Given the description of an element on the screen output the (x, y) to click on. 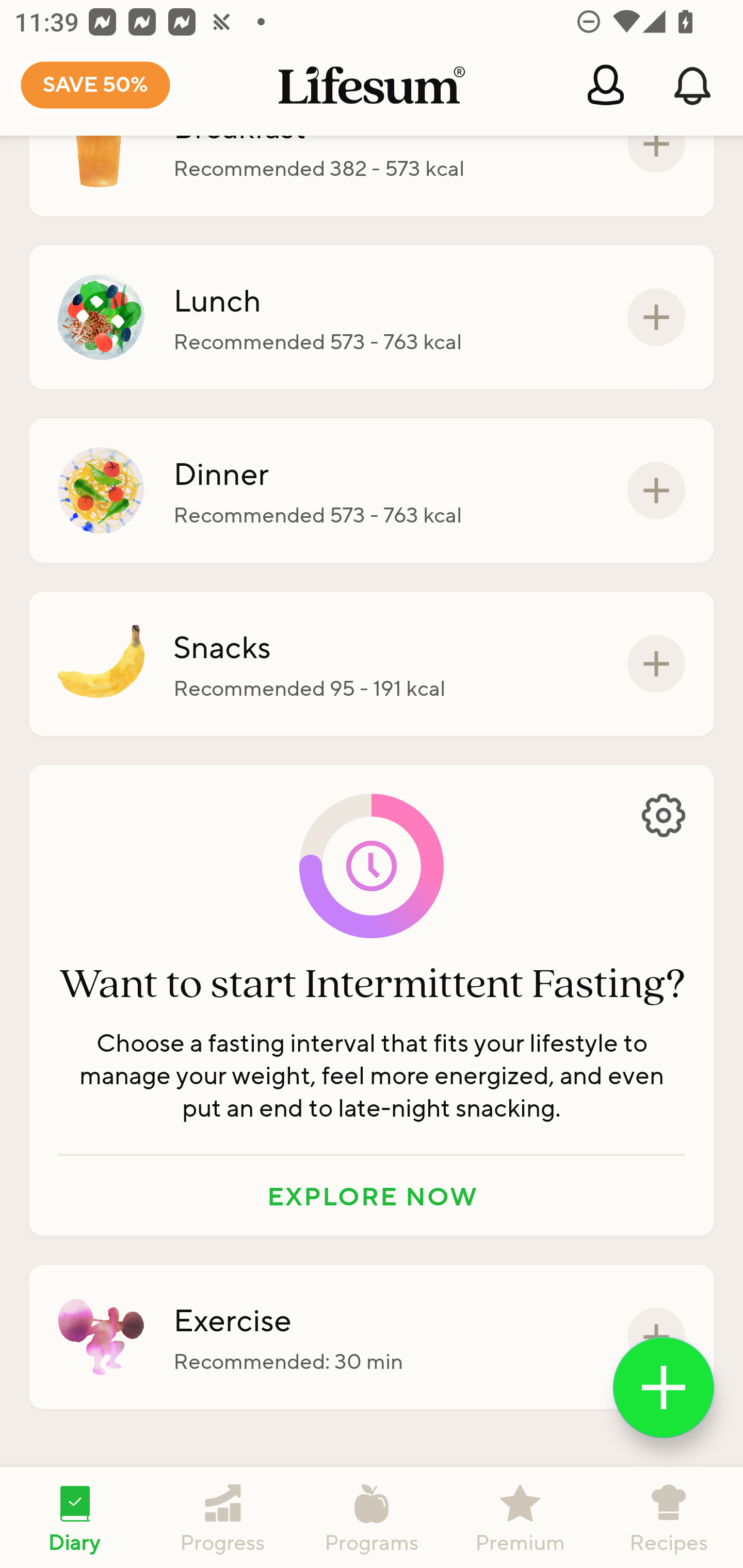
Lunch Recommended 573 - 763 kcal (371, 316)
Dinner Recommended 573 - 763 kcal (371, 490)
Snacks Recommended 95 - 191 kcal (371, 663)
EXPLORE NOW (371, 1195)
Exercise Recommended: 30 min (371, 1337)
Progress (222, 1517)
Programs (371, 1517)
Premium (519, 1517)
Recipes (668, 1517)
